Given the description of an element on the screen output the (x, y) to click on. 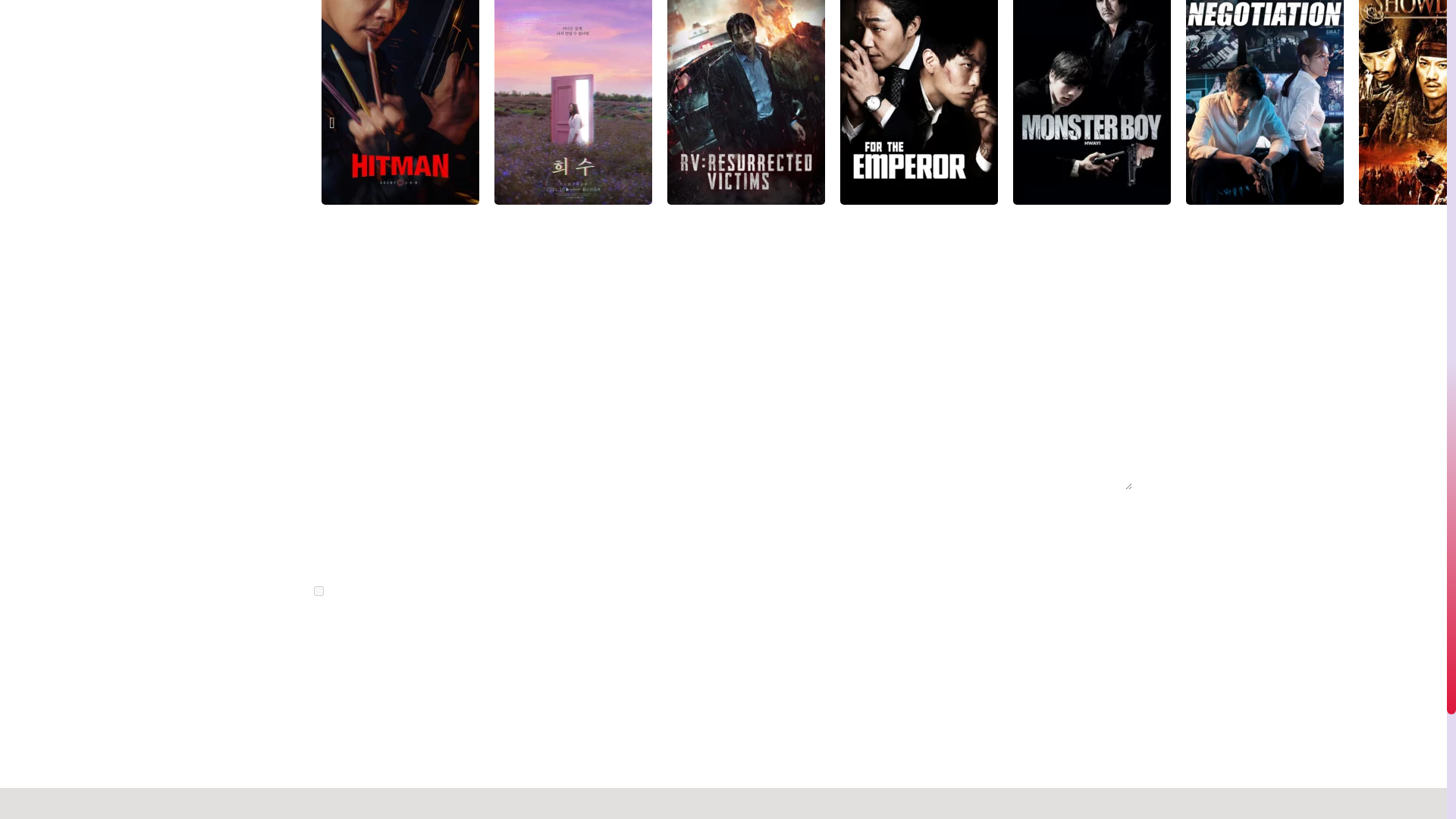
yes (318, 591)
Submit (357, 639)
